Given the description of an element on the screen output the (x, y) to click on. 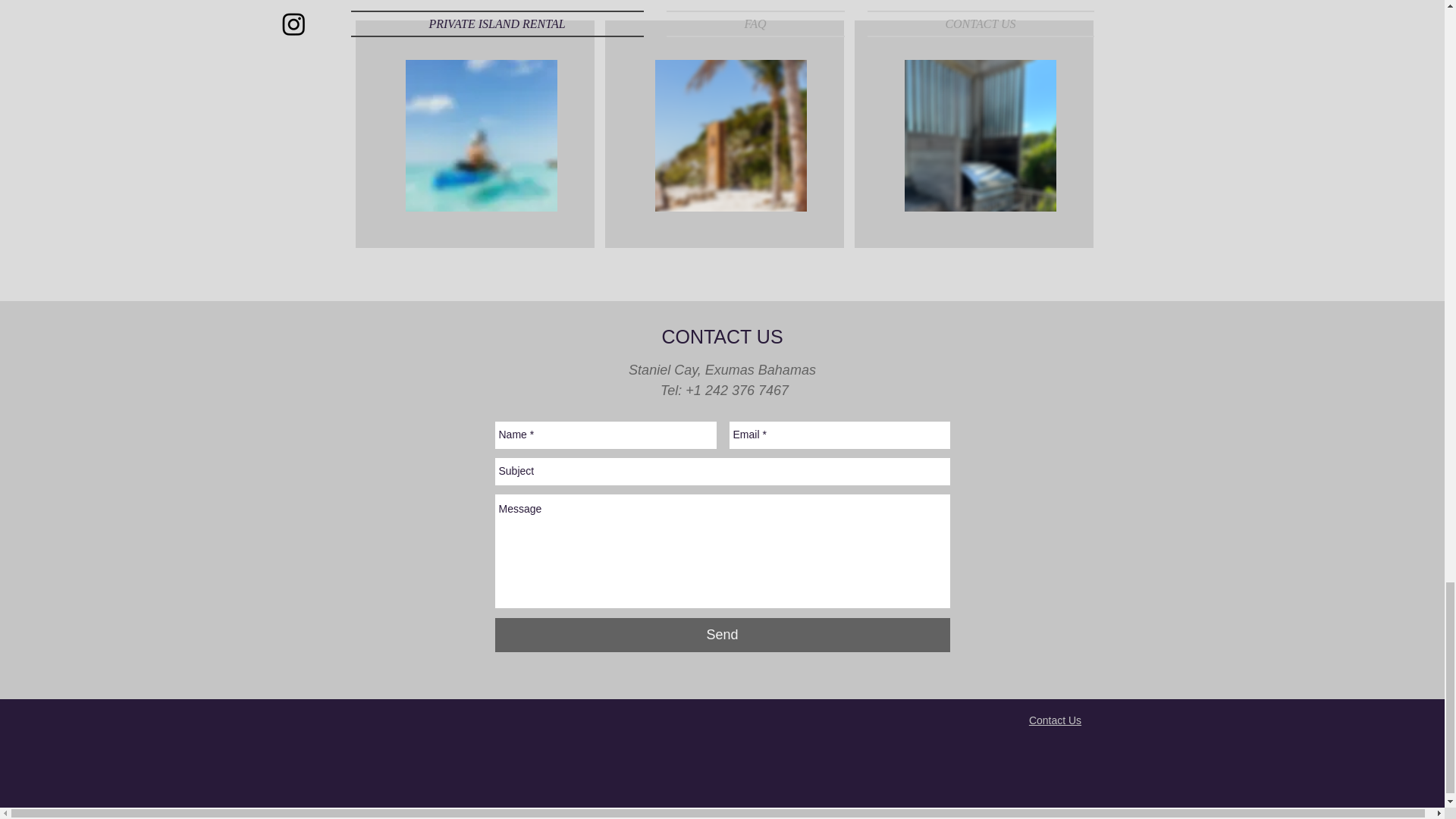
Send (722, 634)
Contact Us (1055, 720)
